Given the description of an element on the screen output the (x, y) to click on. 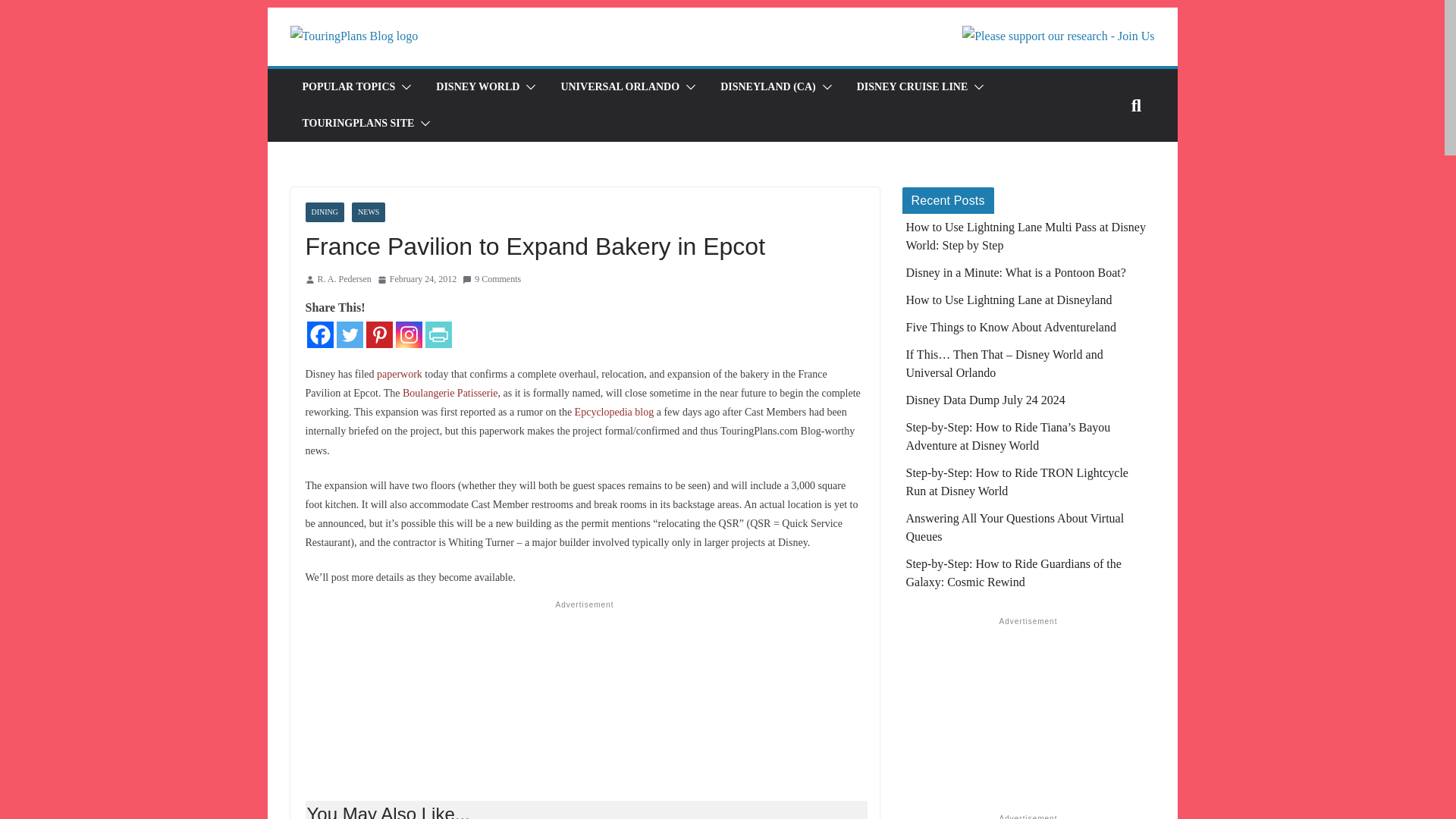
Facebook (319, 334)
Pinterest (378, 334)
POPULAR TOPICS (347, 86)
DISNEY CRUISE LINE (912, 86)
3:16 pm (417, 279)
UNIVERSAL ORLANDO (619, 86)
PrintFriendly (438, 334)
DISNEY WORLD (477, 86)
Instagram (409, 334)
TOURINGPLANS SITE (357, 123)
Twitter (349, 334)
R. A. Pedersen (344, 279)
